Given the description of an element on the screen output the (x, y) to click on. 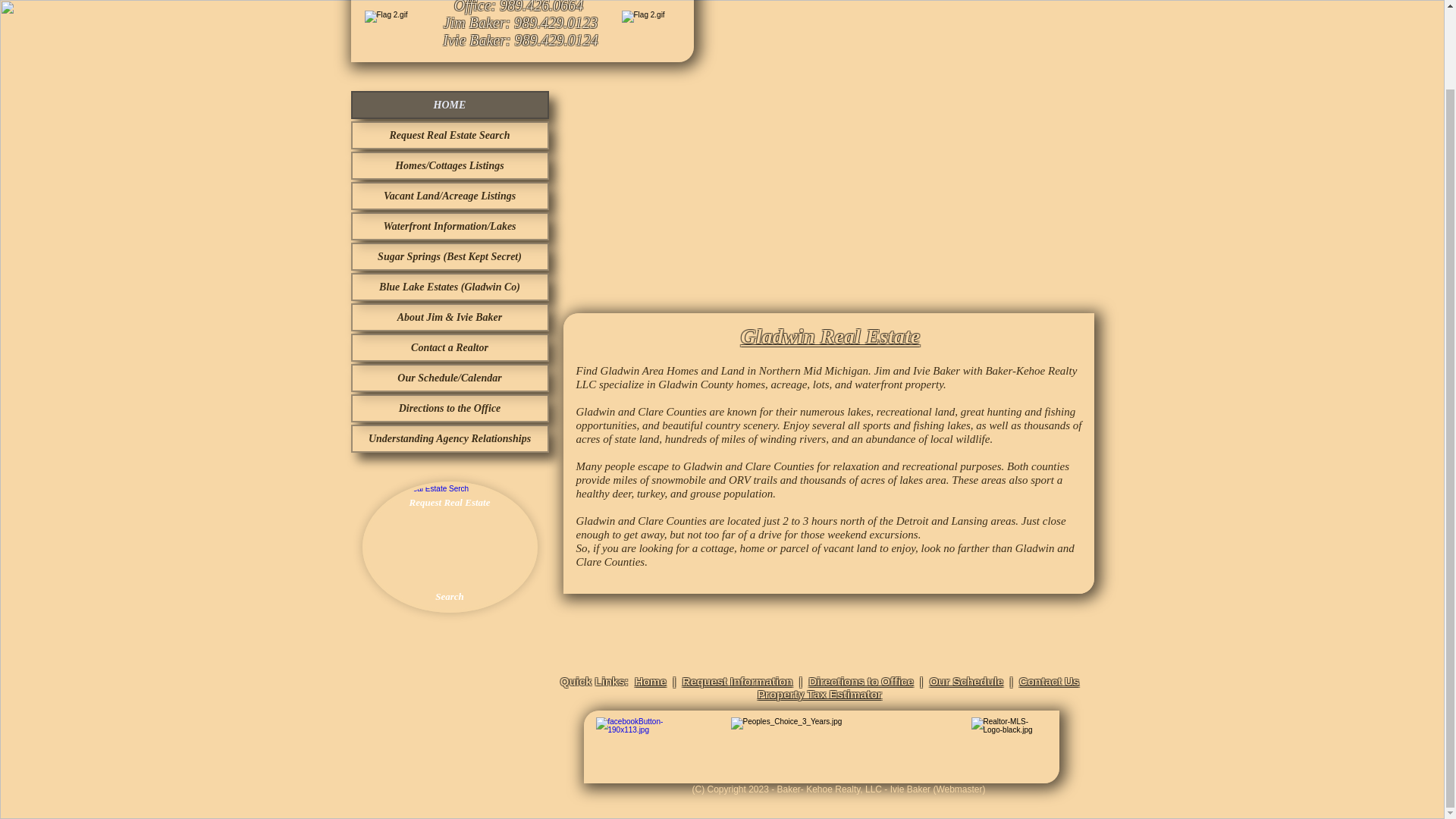
Our Schedule (967, 680)
Property Tax Estimator (819, 694)
Understanding Agency Relationships (449, 438)
Contact a Realtor (449, 347)
Directions to Office (860, 680)
Request Real Estate Search (449, 546)
HOME (449, 104)
Like Us on Facebook (645, 746)
Home (650, 680)
Request Real Estate Search (449, 135)
Baker-Kehoe Realty LLC, Gladwin MI (1019, 20)
Directions to the Office (449, 407)
Contact Us (1048, 680)
Request Information (737, 680)
